Given the description of an element on the screen output the (x, y) to click on. 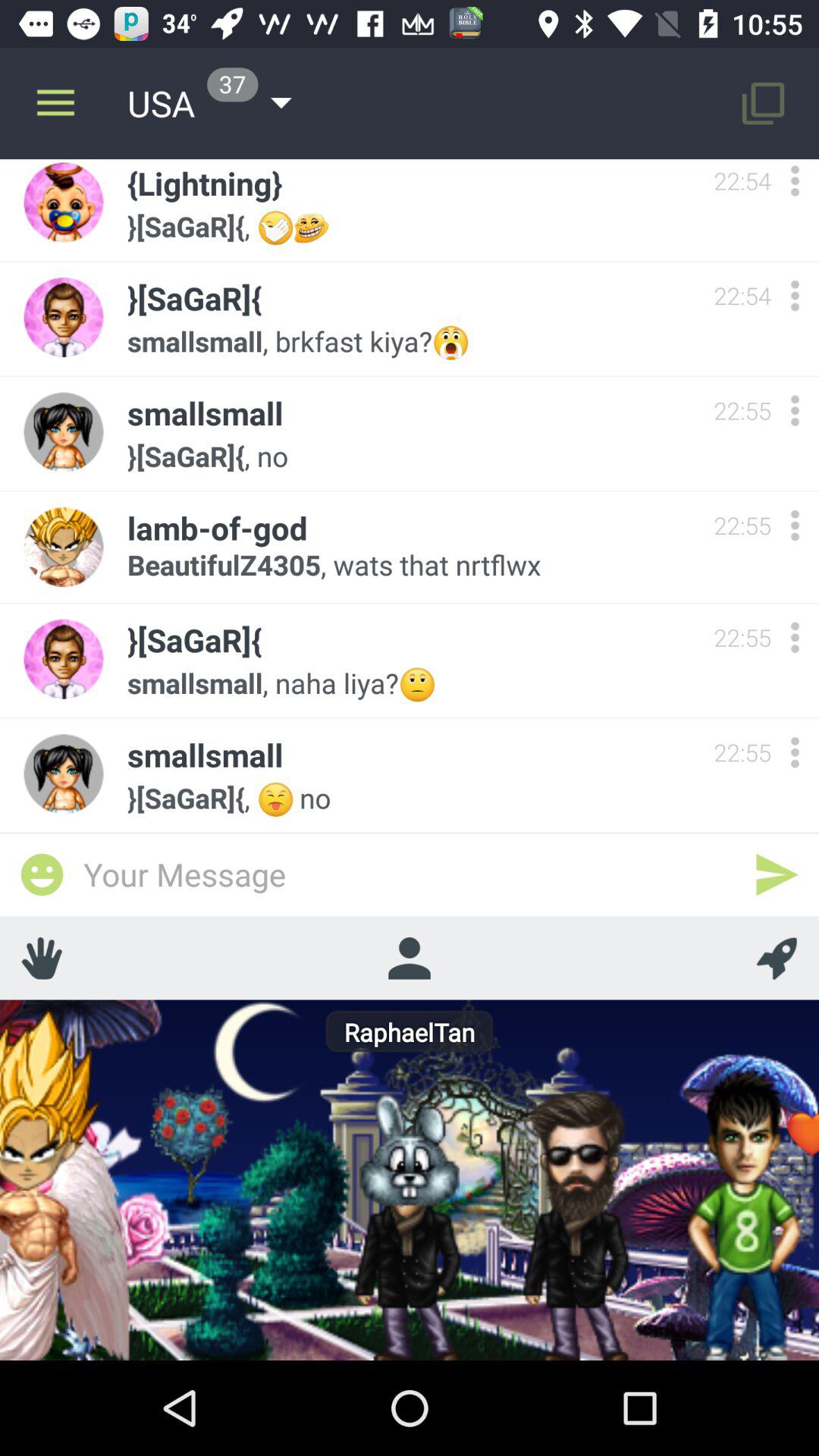
sending button (777, 874)
